Given the description of an element on the screen output the (x, y) to click on. 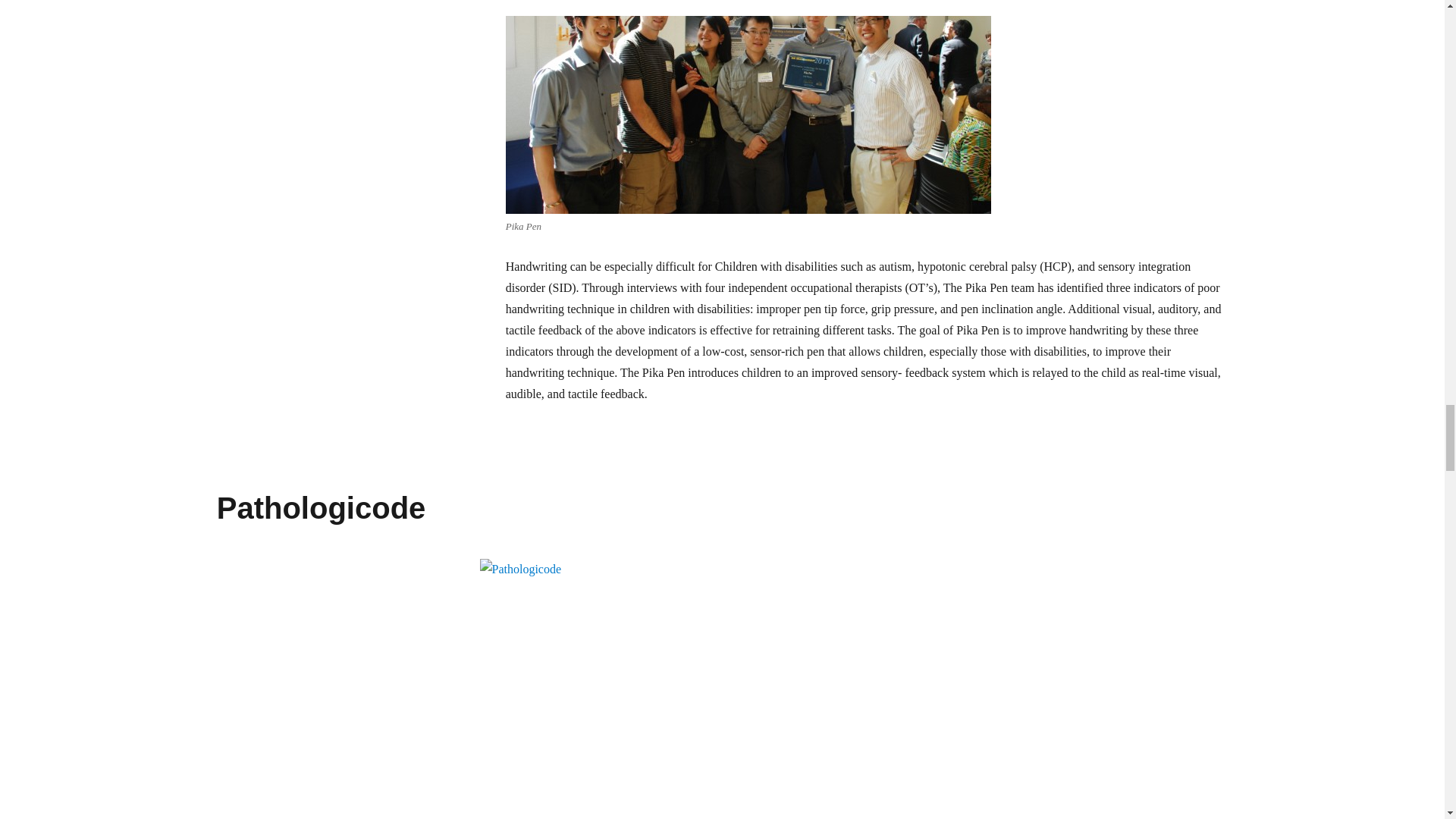
Pathologicode (321, 507)
Pika Pen (748, 106)
